Given the description of an element on the screen output the (x, y) to click on. 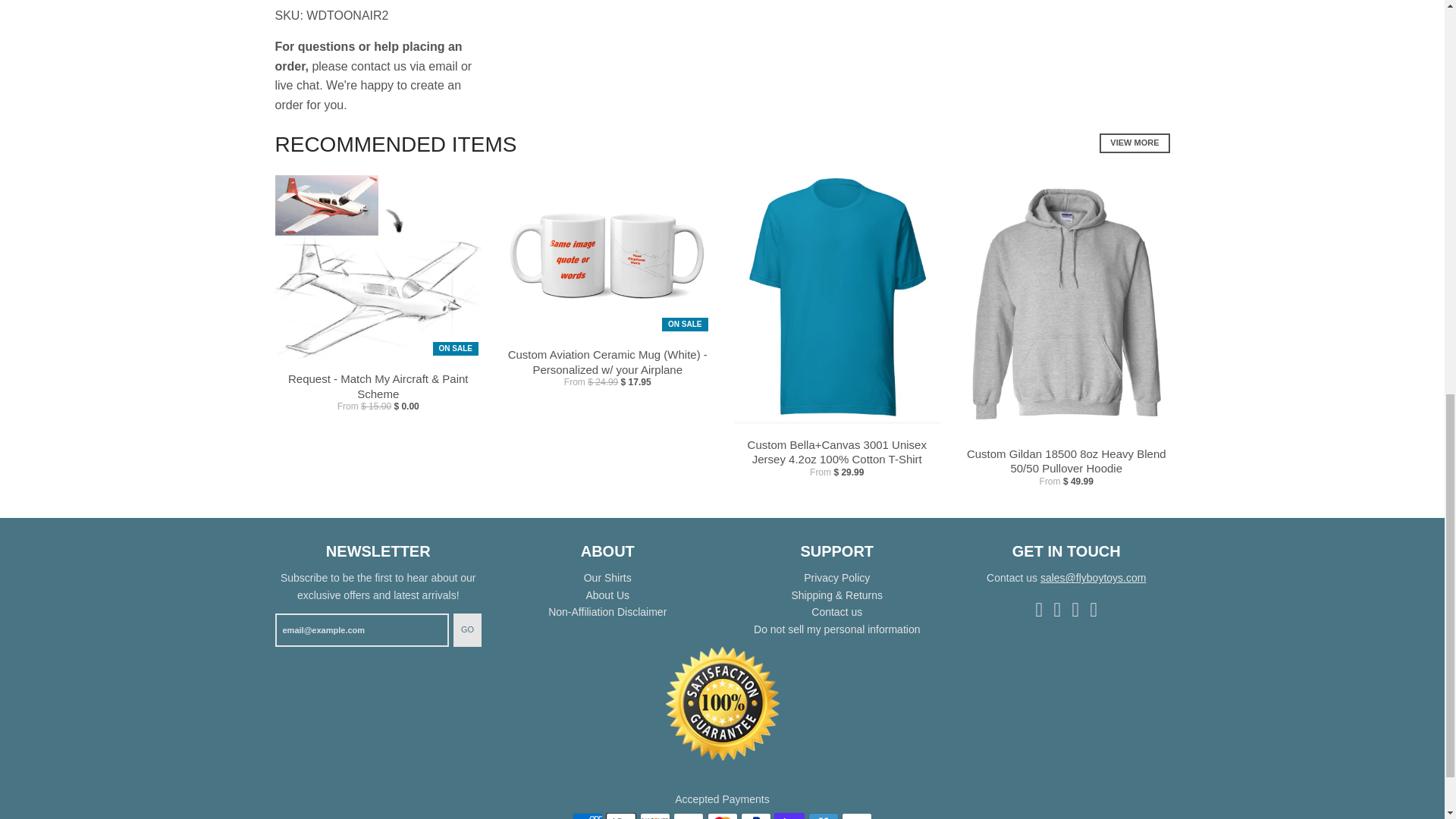
Flyboy Toys on Facebook (1038, 608)
Flyboy Toys on Pinterest (1074, 608)
Flyboy Toys on Twitter (1093, 608)
Flyboy Toys on Instagram (1056, 608)
